Given the description of an element on the screen output the (x, y) to click on. 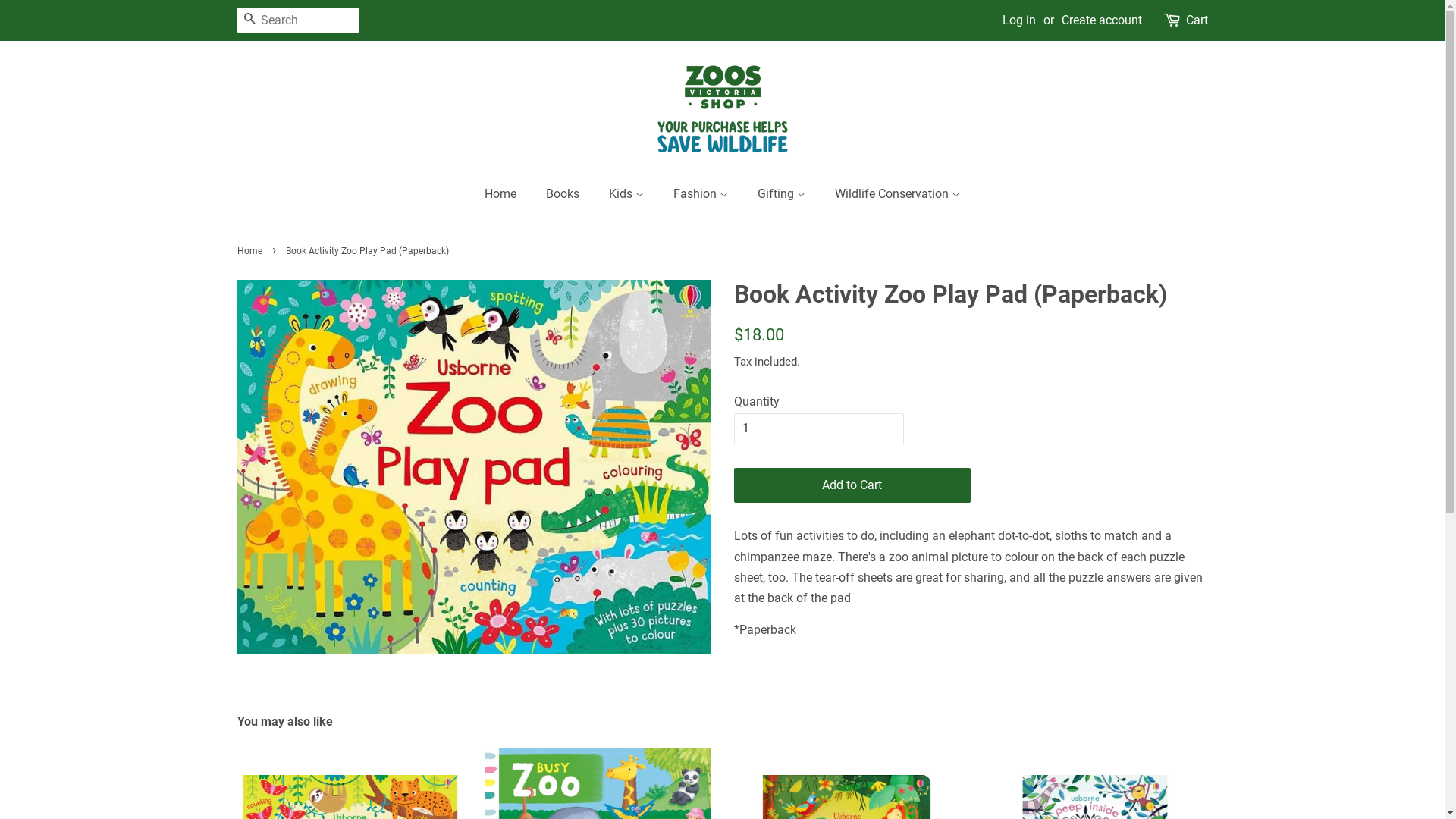
Wildlife Conservation Element type: text (891, 193)
Add to Cart Element type: text (852, 485)
Kids Element type: text (627, 193)
Log in Element type: text (1018, 19)
Home Element type: text (507, 193)
Home Element type: text (250, 250)
Gifting Element type: text (783, 193)
Fashion Element type: text (702, 193)
Create account Element type: text (1101, 19)
Books Element type: text (564, 193)
Cart Element type: text (1197, 19)
Search Element type: text (248, 19)
